Given the description of an element on the screen output the (x, y) to click on. 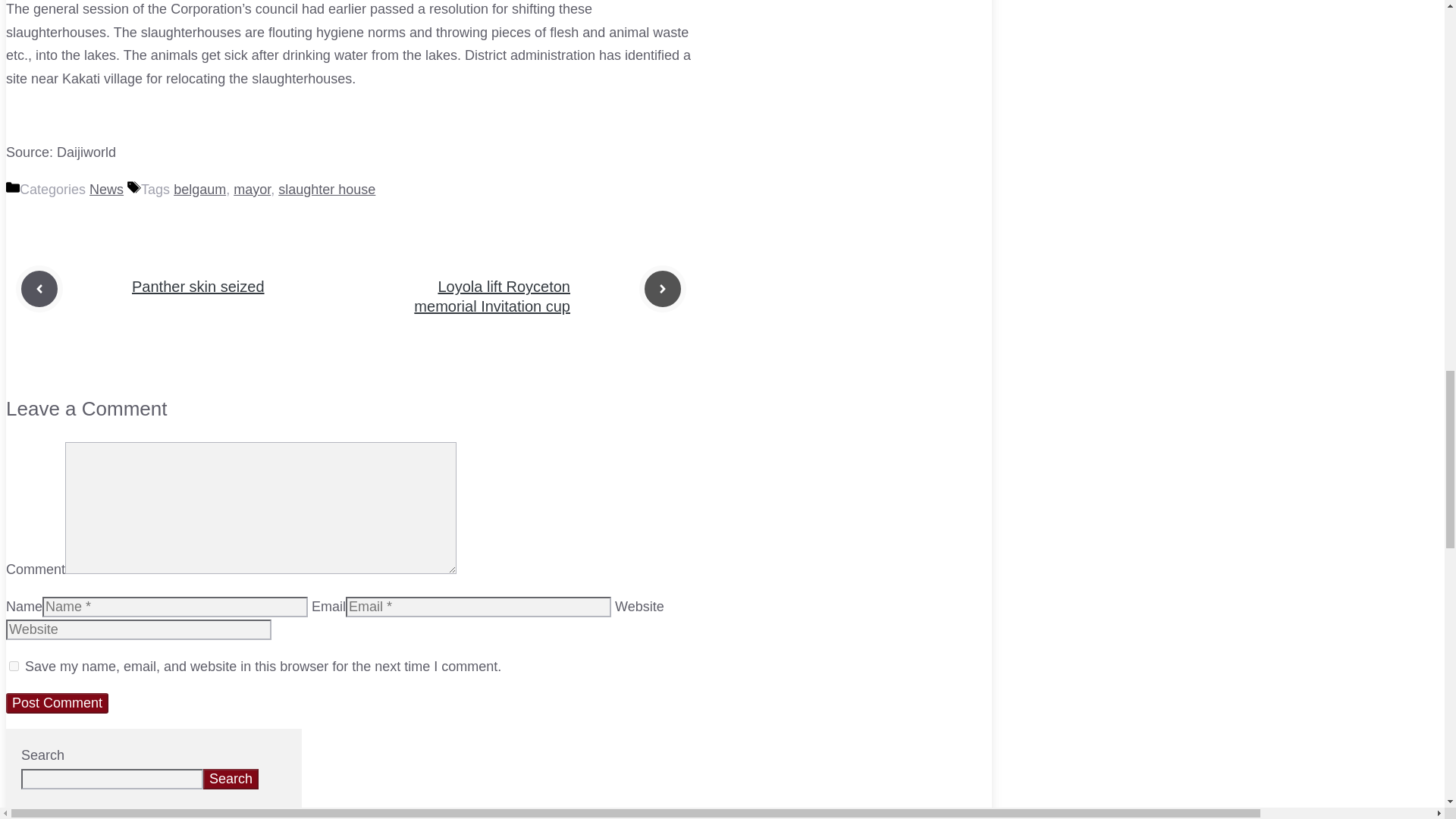
yes (13, 665)
Loyola lift Royceton memorial Invitation cup (491, 296)
Search (231, 779)
Post Comment (56, 702)
Panther skin seized (198, 286)
News (105, 189)
belgaum (199, 189)
Post Comment (56, 702)
slaughter house (326, 189)
mayor (251, 189)
